Given the description of an element on the screen output the (x, y) to click on. 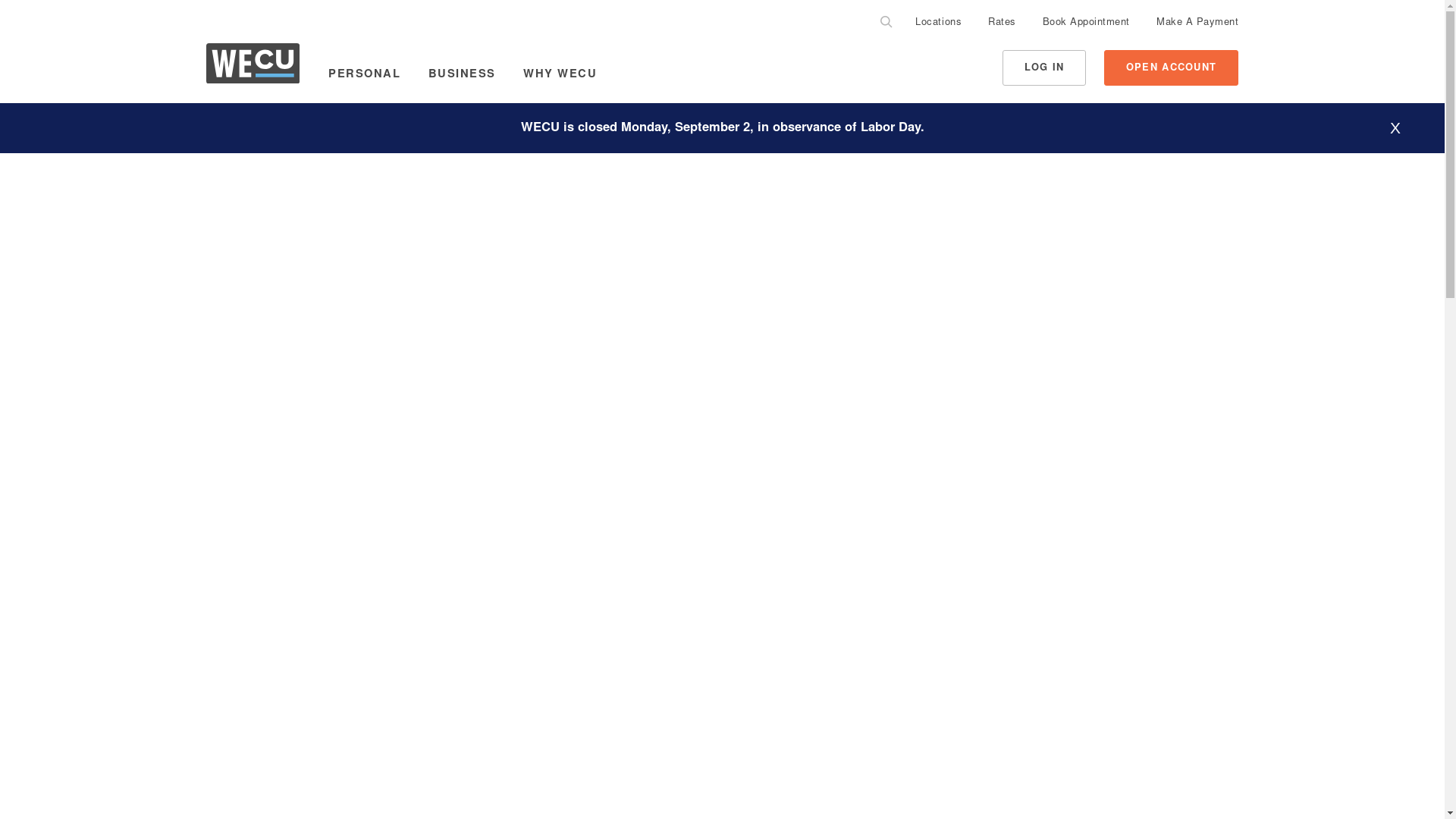
BUSINESS (462, 75)
WHY WECU (559, 75)
Book Appointment (1085, 23)
Locations (937, 23)
Rates (1002, 23)
PERSONAL (364, 75)
Make A Payment (1197, 23)
